Given the description of an element on the screen output the (x, y) to click on. 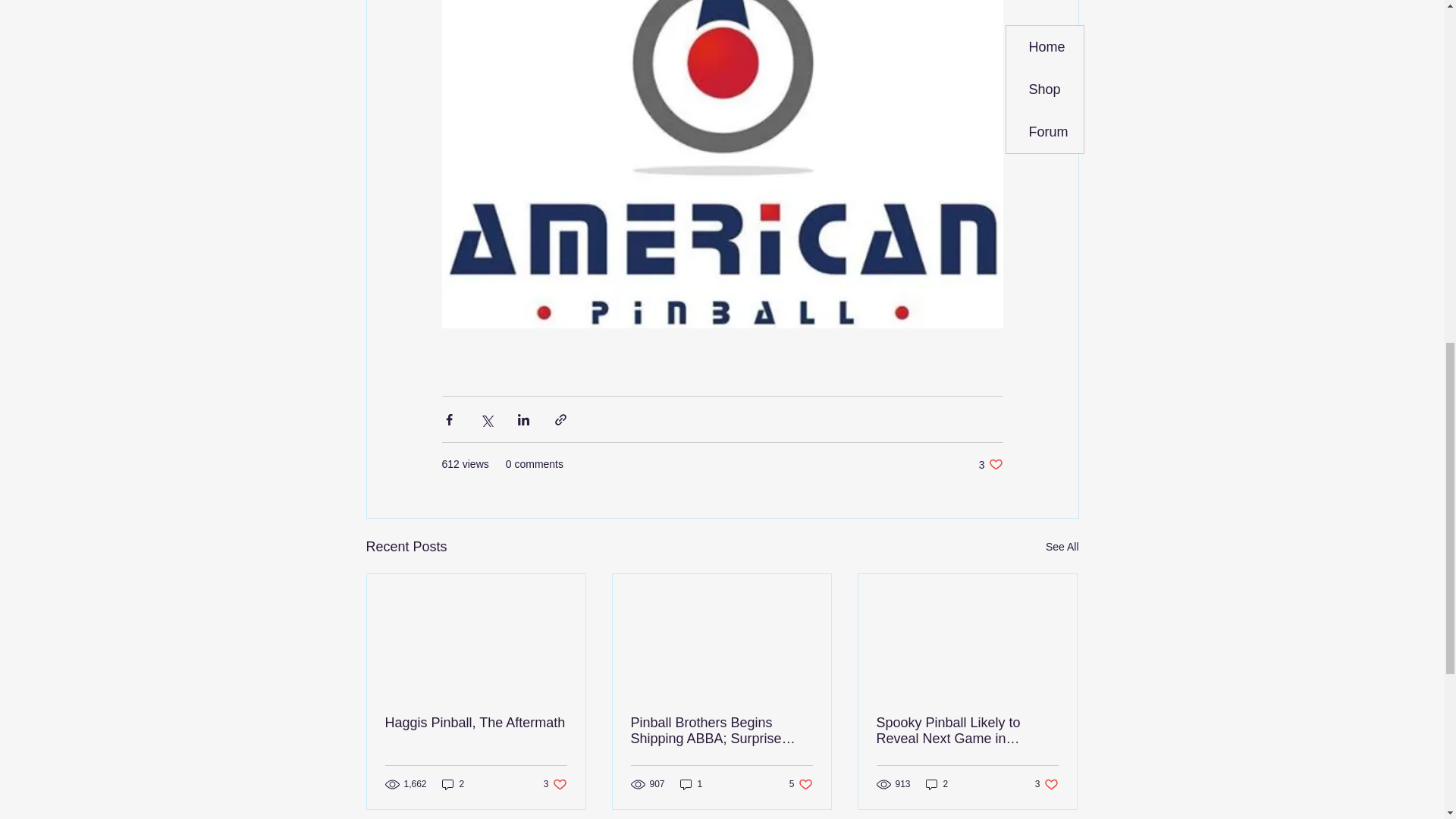
Haggis Pinball, The Aftermath (990, 464)
See All (800, 784)
1 (1046, 784)
2 (476, 722)
2 (1061, 546)
